Given the description of an element on the screen output the (x, y) to click on. 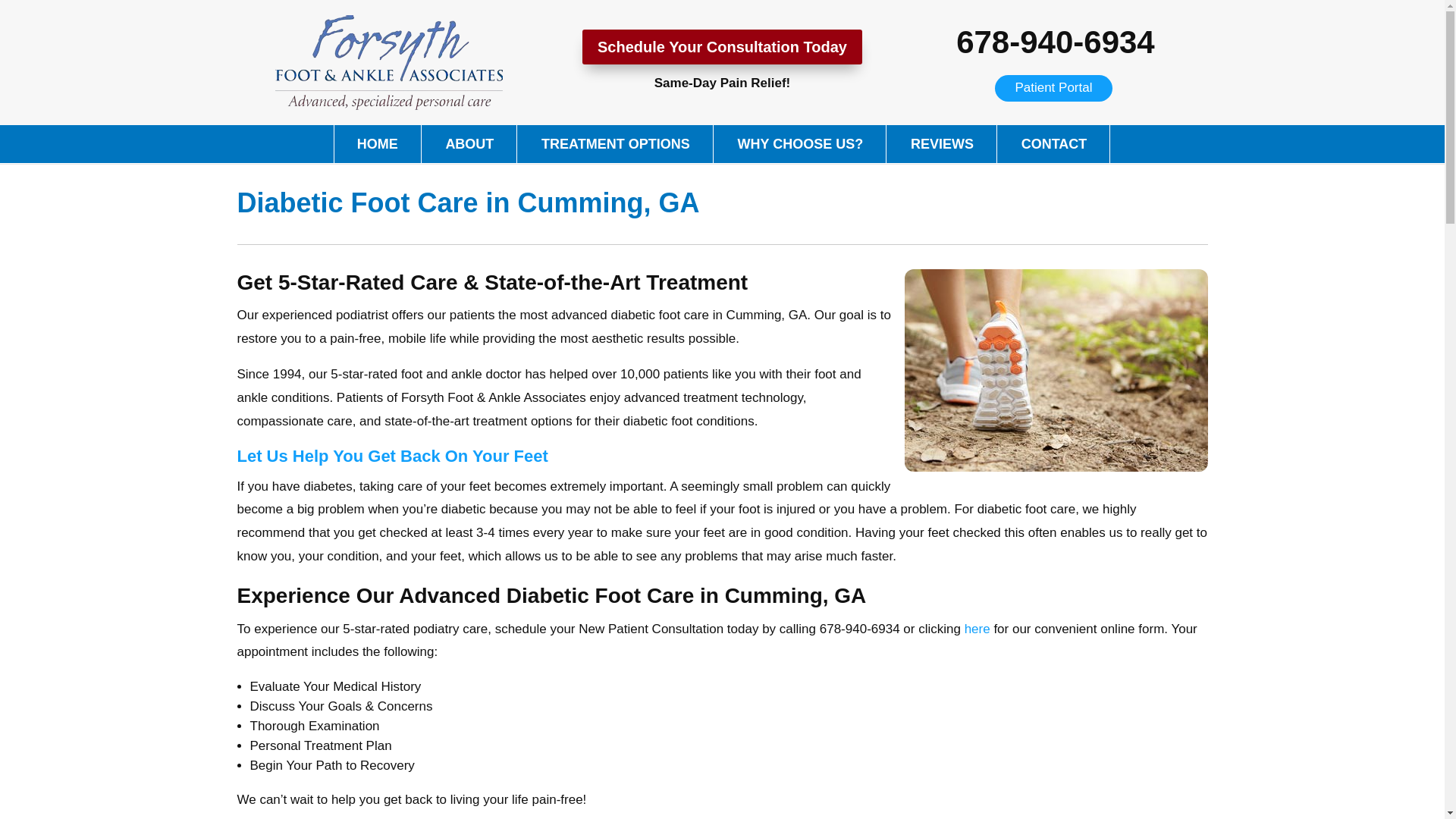
WHY CHOOSE US? (800, 143)
forsyth-foot-logo (388, 62)
678-940-6934 (1055, 41)
TREATMENT OPTIONS (615, 143)
Schedule Your Consultation Today (721, 46)
HOME (377, 143)
ABOUT (469, 143)
Patient Portal (1053, 88)
